Given the description of an element on the screen output the (x, y) to click on. 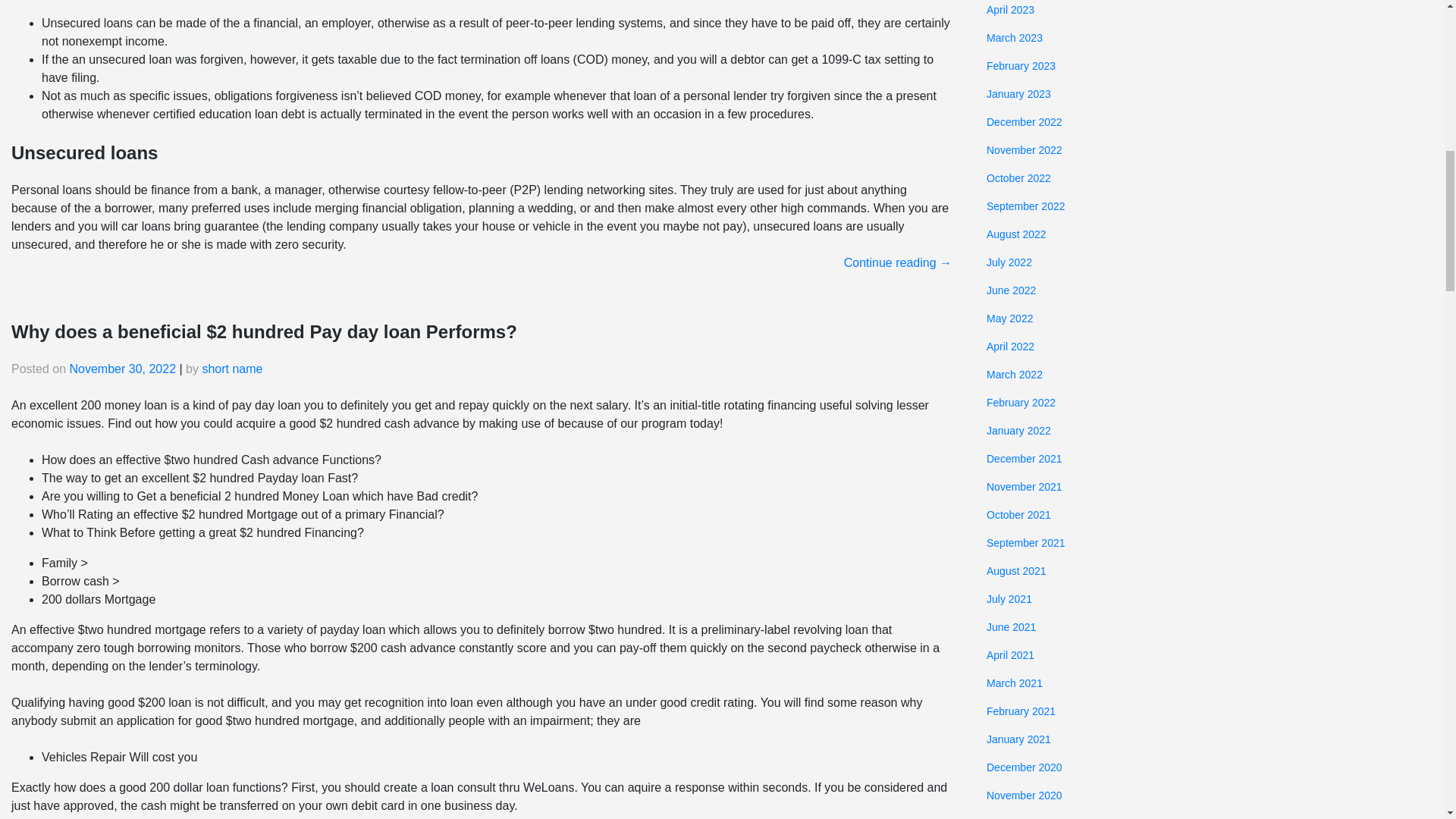
short name (232, 368)
November 30, 2022 (122, 368)
